Given the description of an element on the screen output the (x, y) to click on. 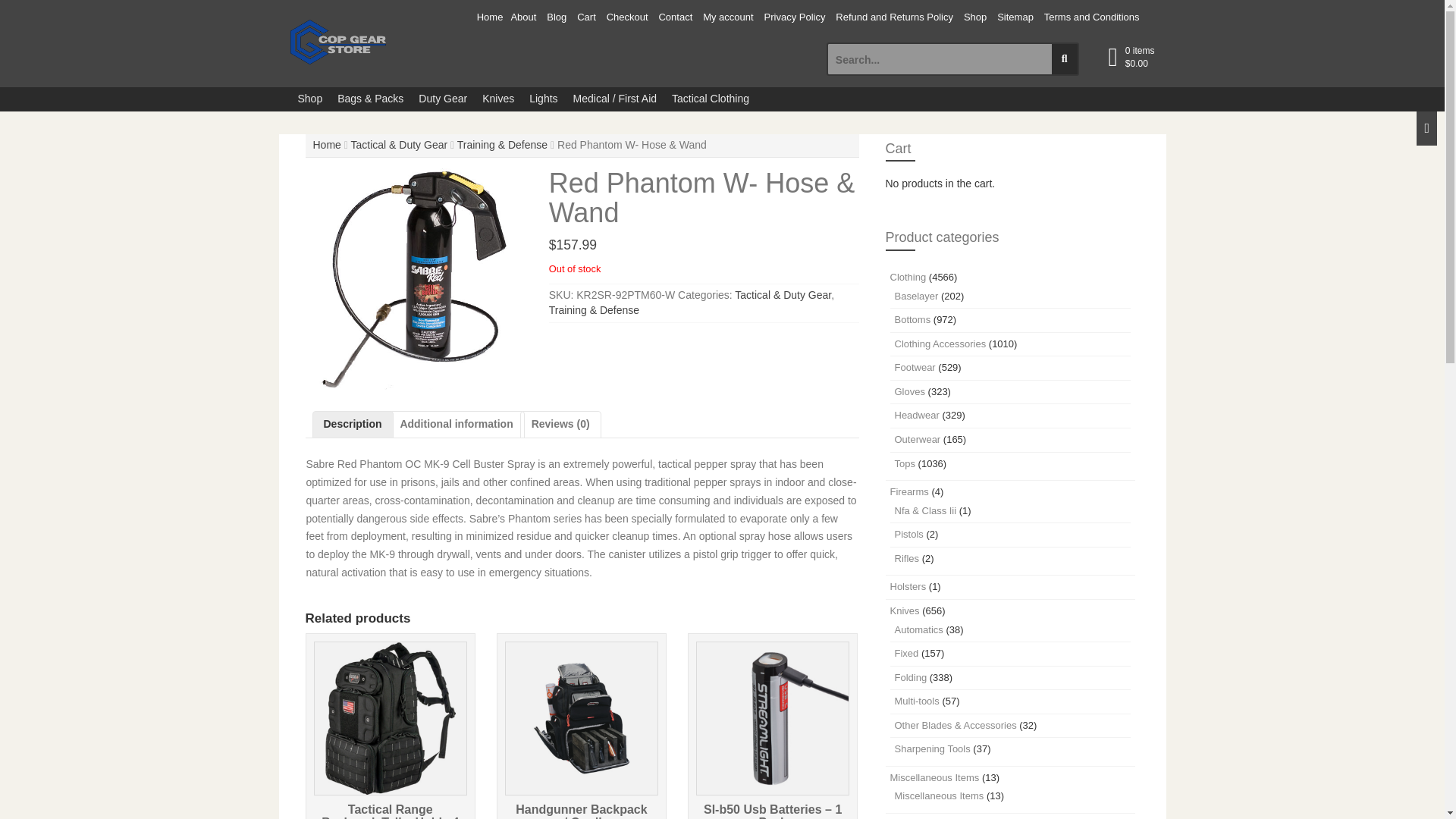
Home (326, 144)
Blog (556, 17)
Home (489, 17)
Shop (974, 17)
Tactical Clothing (710, 98)
Duty Gear (442, 98)
Search for: (940, 59)
Checkout (627, 17)
My account (727, 17)
About (523, 17)
Privacy Policy (794, 17)
Contact (674, 17)
Lights (542, 98)
Description (352, 424)
View your shopping cart (1139, 57)
